Given the description of an element on the screen output the (x, y) to click on. 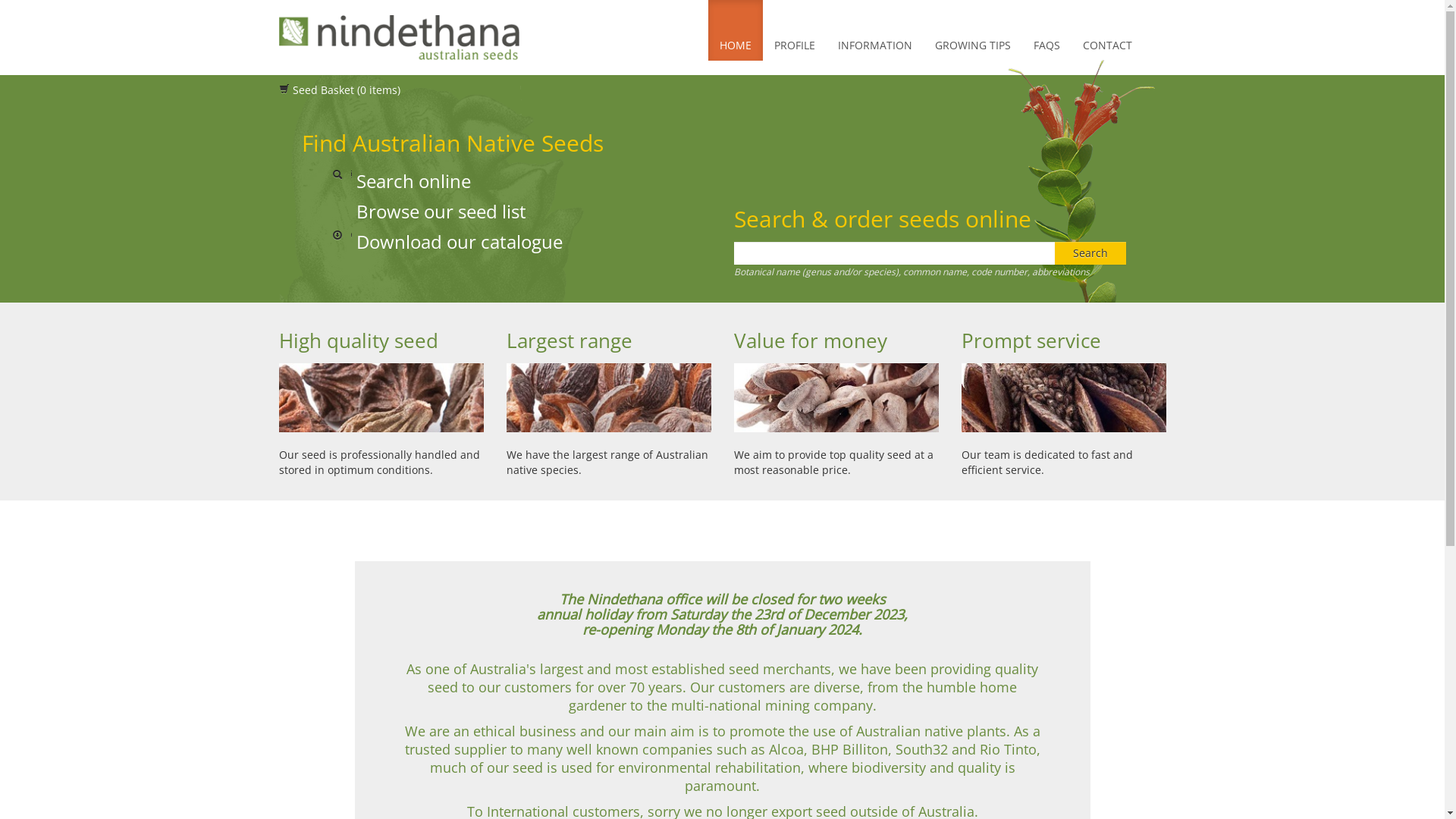
PROFILE Element type: text (794, 30)
Download our catalogue Element type: text (447, 241)
Search Element type: text (1090, 252)
Browse our seed list Element type: text (429, 210)
GROWING TIPS Element type: text (972, 30)
HOME Element type: text (735, 30)
INFORMATION Element type: text (874, 30)
CONTACT Element type: text (1106, 30)
Seed Basket (0 items) Element type: text (339, 89)
FAQS Element type: text (1046, 30)
